Given the description of an element on the screen output the (x, y) to click on. 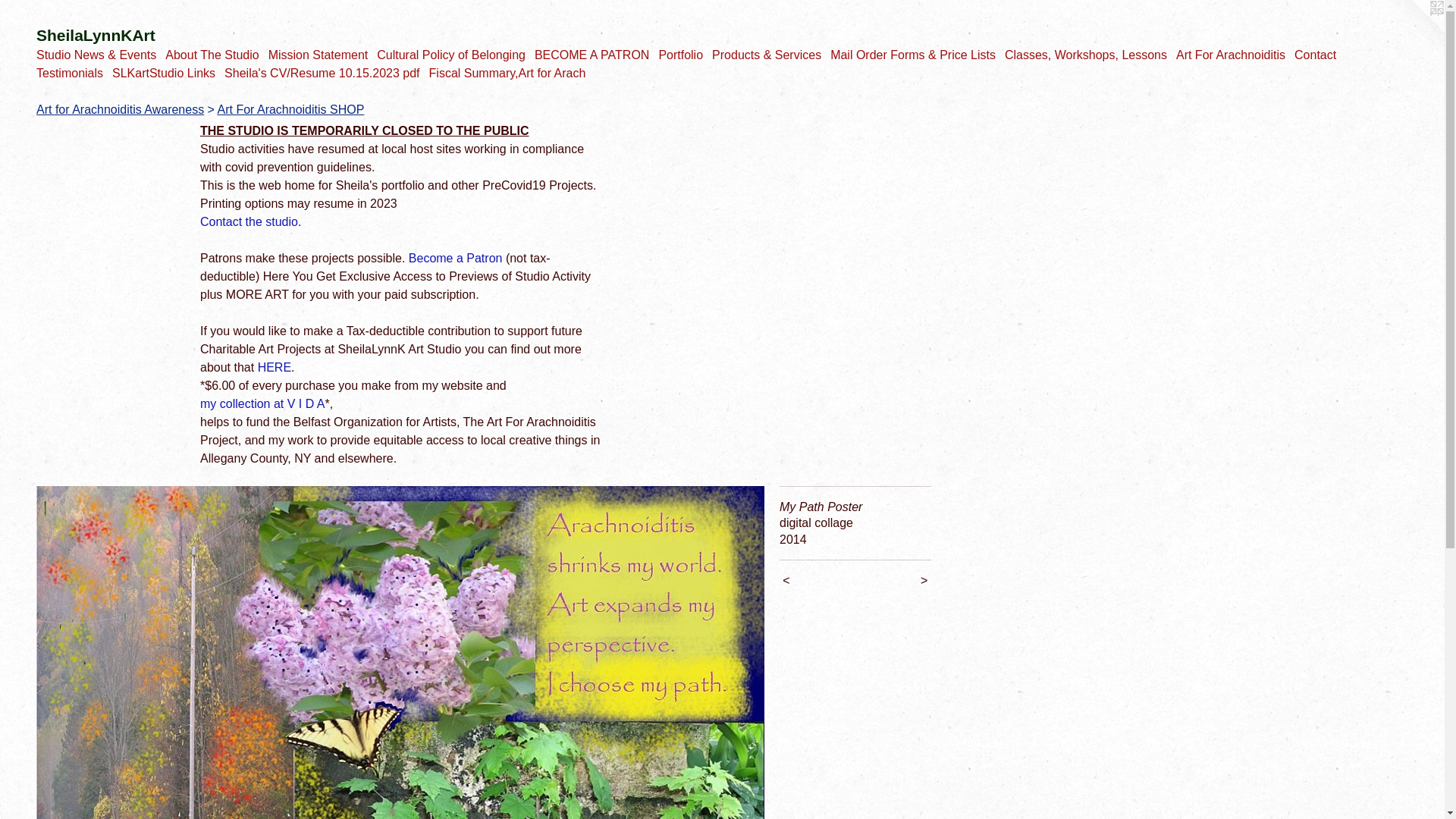
SheilaLynnKArt (721, 38)
